Given the description of an element on the screen output the (x, y) to click on. 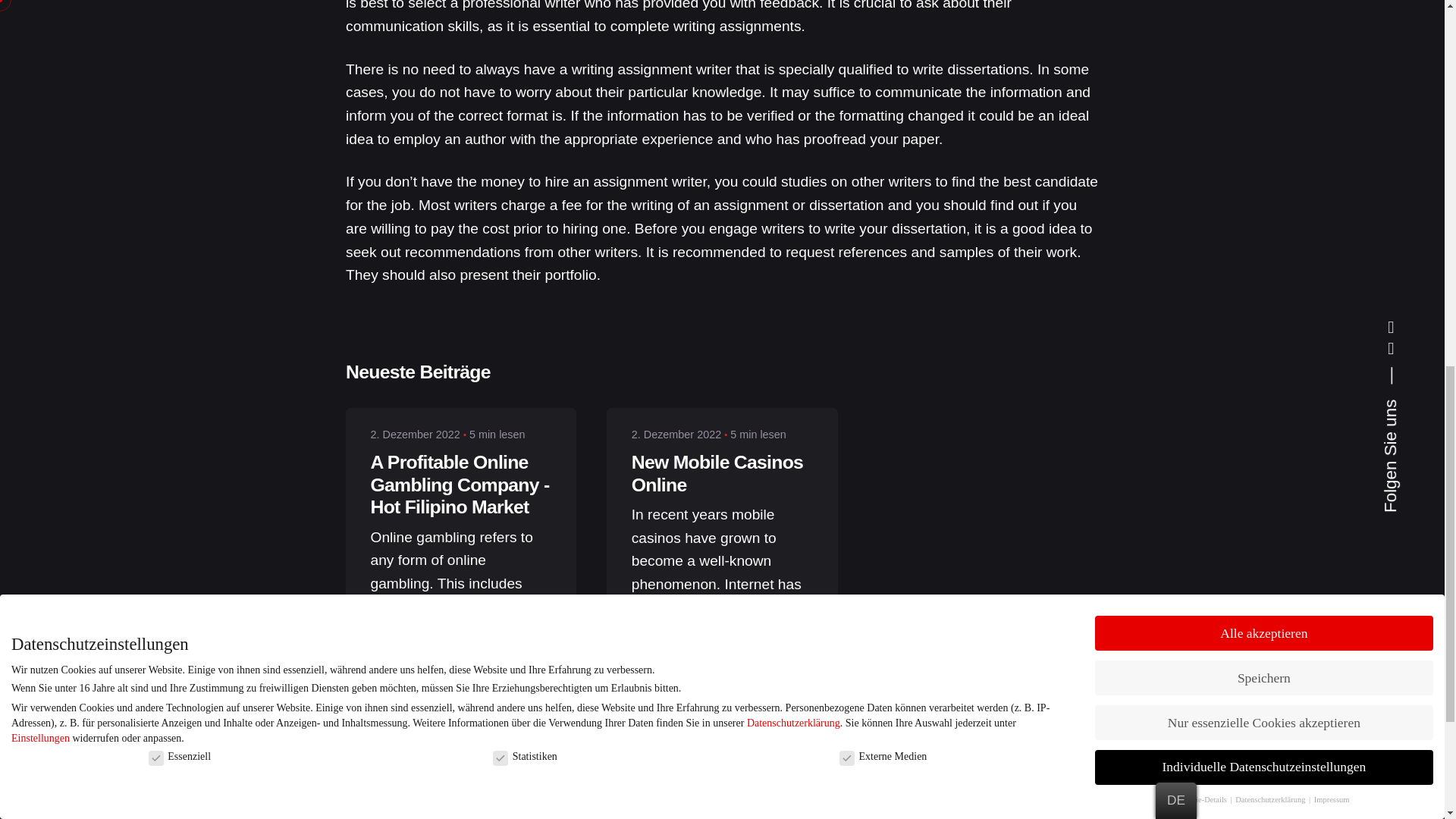
New Mobile Casinos Online (717, 473)
A Profitable Online Gambling Company - Hot Filipino Market (458, 484)
Uncategorized (672, 818)
top mastercard online casino (701, 758)
